Given the description of an element on the screen output the (x, y) to click on. 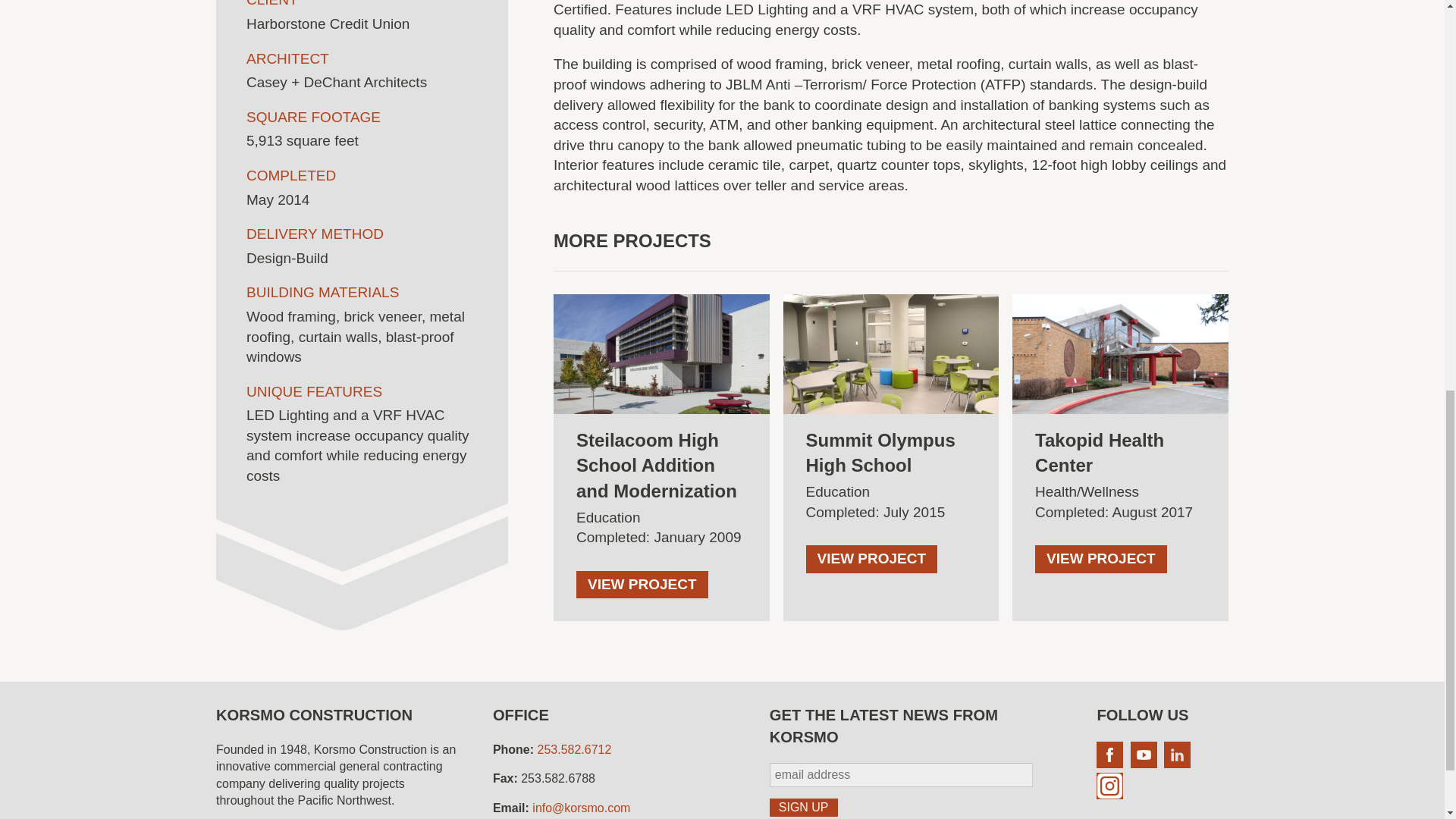
Sign Up (804, 807)
